Given the description of an element on the screen output the (x, y) to click on. 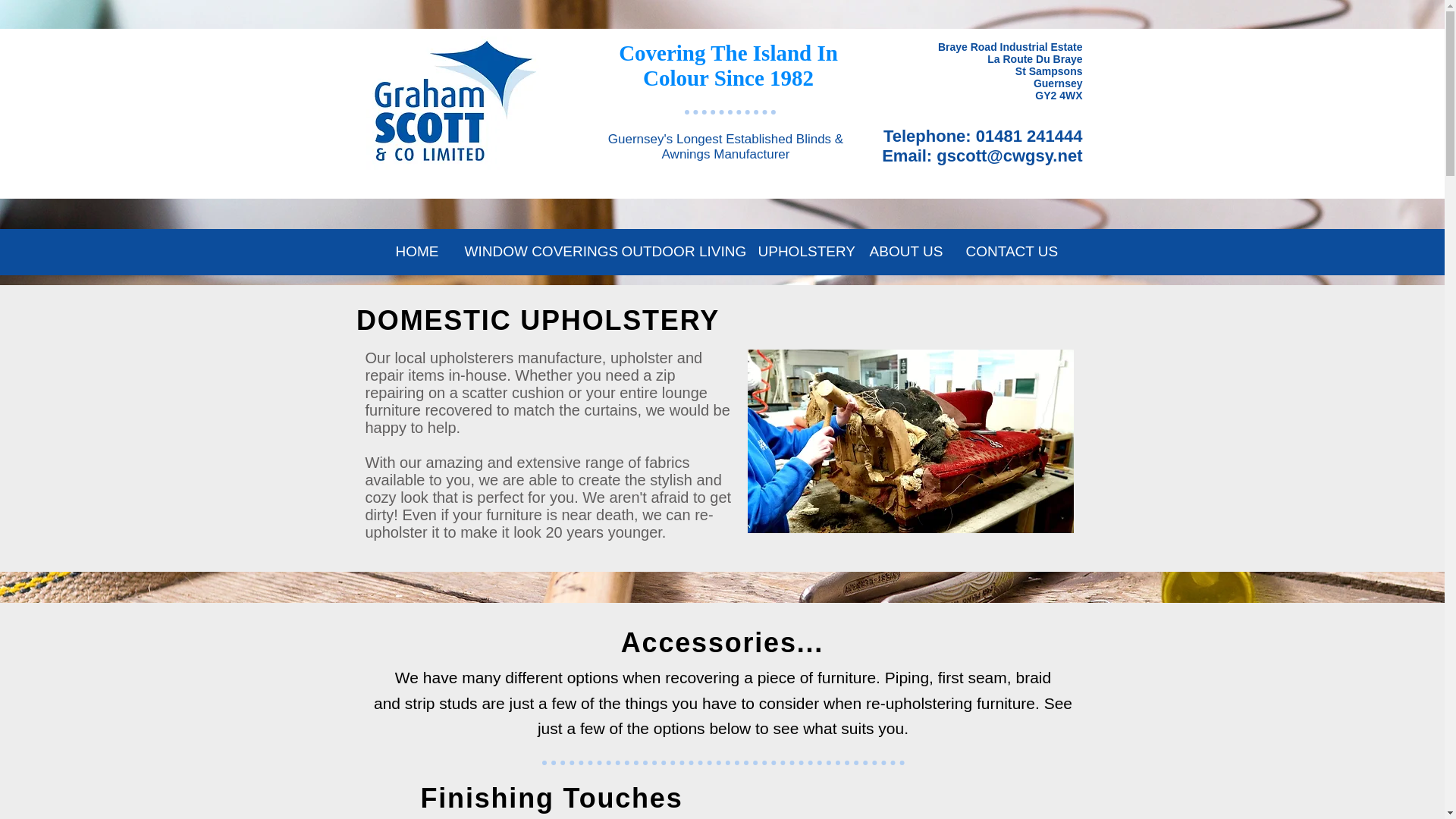
HOME (416, 251)
OUTDOOR LIVING (677, 251)
CONTACT US (1007, 251)
UPHOLSTERY (801, 251)
ABOUT US (907, 251)
WINDOW COVERINGS (531, 251)
